Given the description of an element on the screen output the (x, y) to click on. 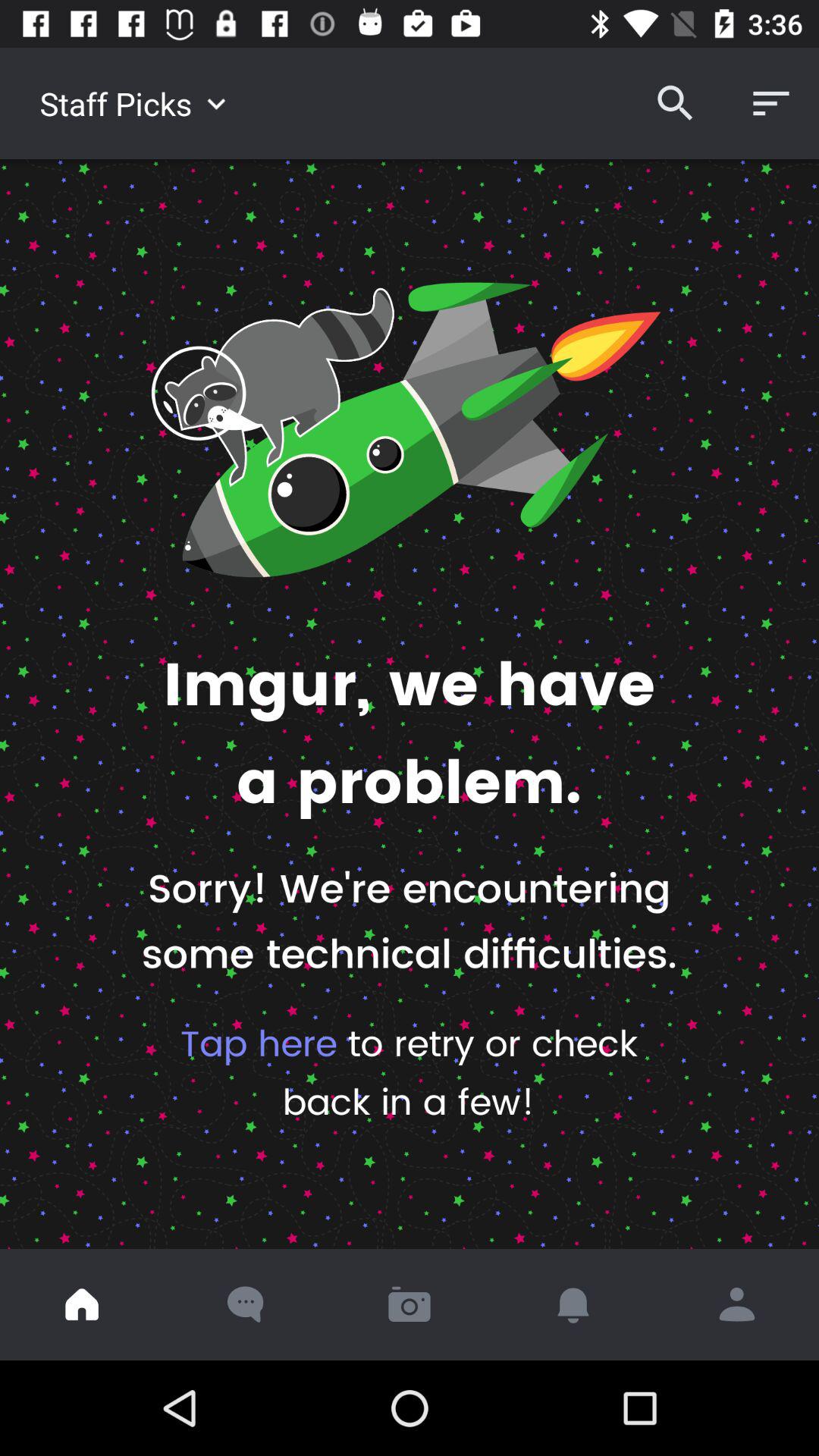
open the icon below the tap here to (409, 1304)
